Given the description of an element on the screen output the (x, y) to click on. 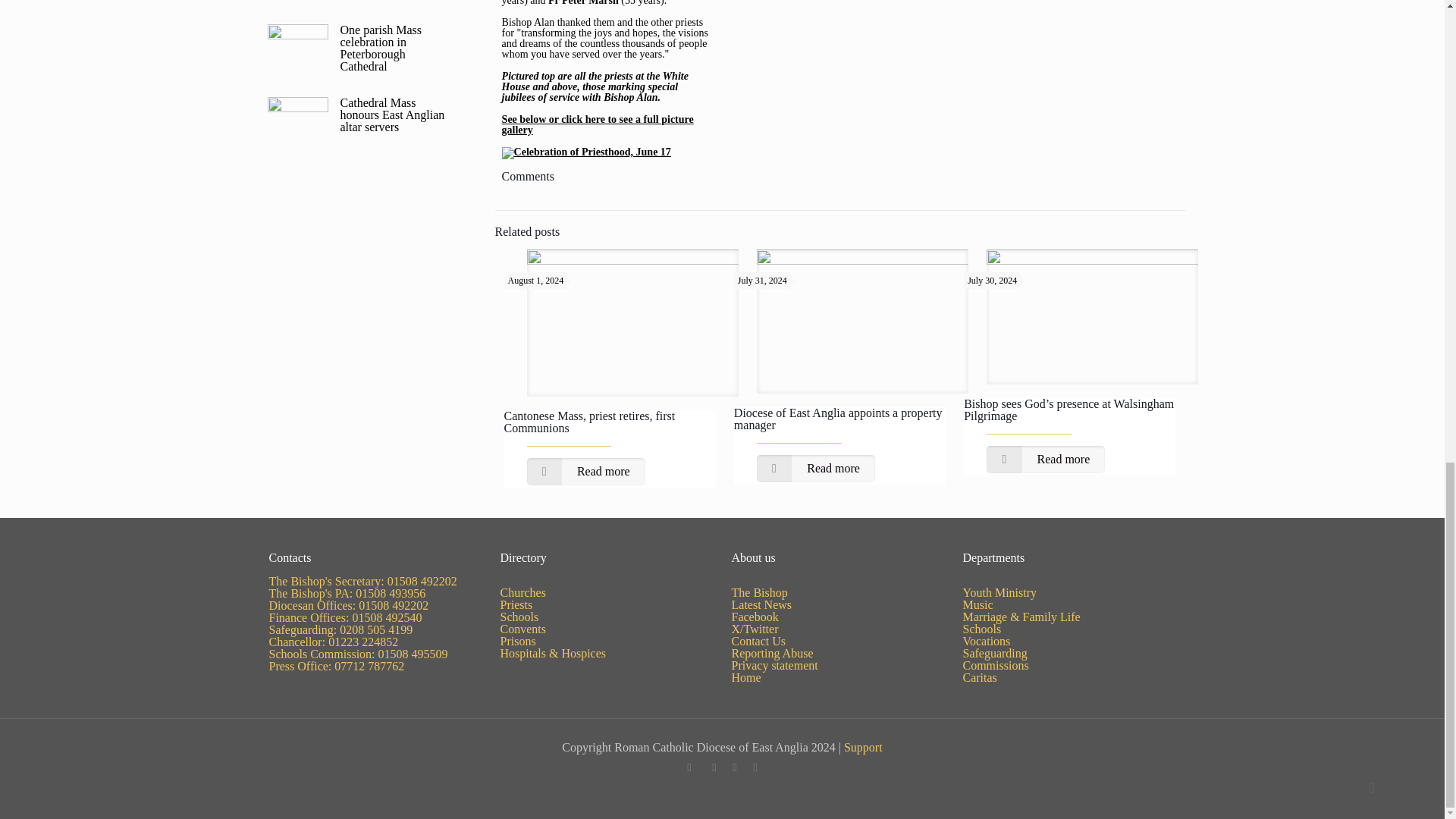
Facebook (689, 767)
Flickr (734, 767)
YouTube (714, 767)
Celebration of Priesthood, June 17 (586, 152)
RSS (755, 767)
